Given the description of an element on the screen output the (x, y) to click on. 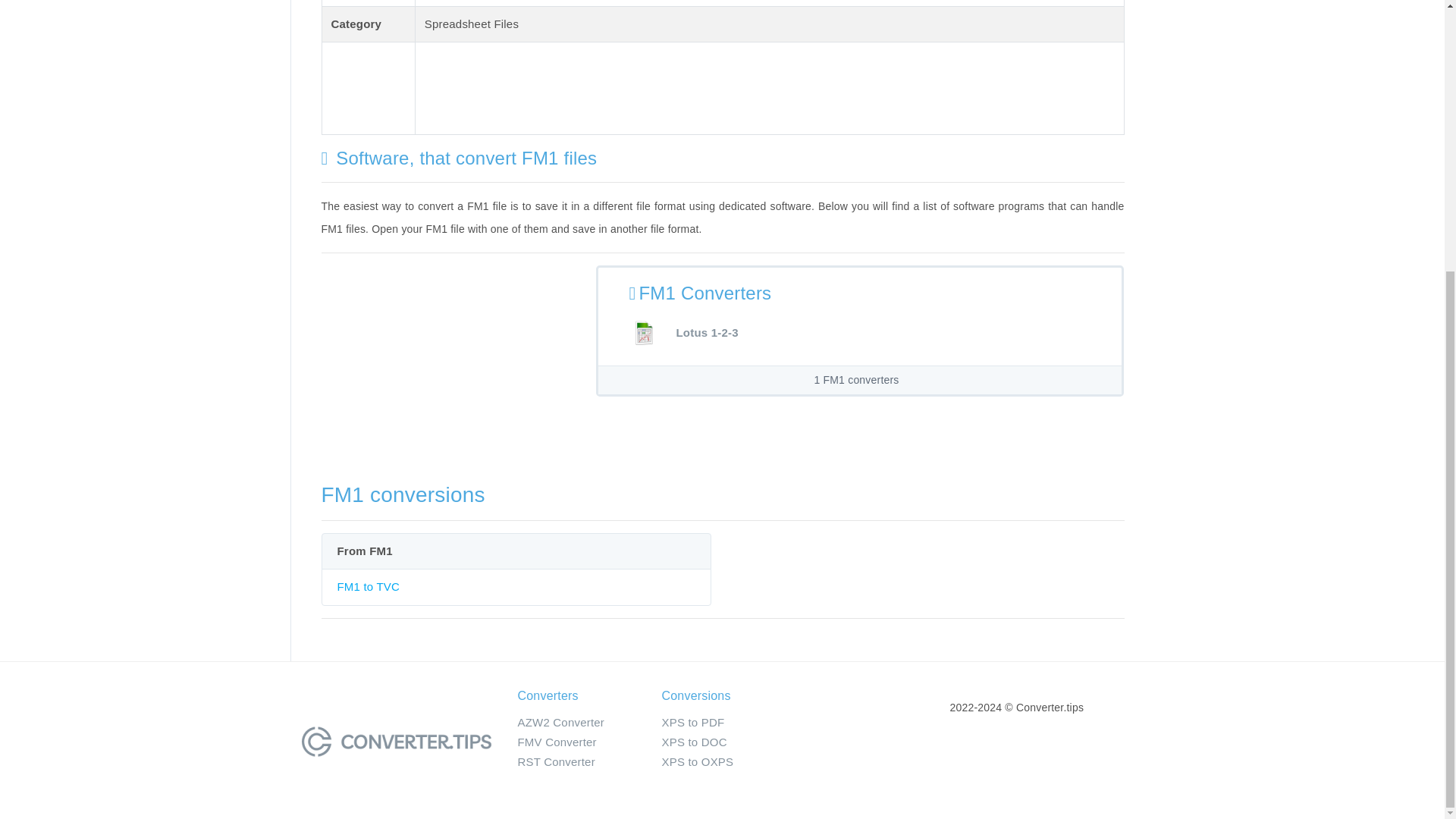
XPS to OXPS (697, 761)
Advertisement (448, 371)
XPS to DOC (693, 741)
AZW2 Converter (560, 721)
Advertisement (700, 85)
FMV Converter (555, 741)
FM1 to TVC (367, 585)
XPS to PDF (692, 721)
RST Converter (555, 761)
